Given the description of an element on the screen output the (x, y) to click on. 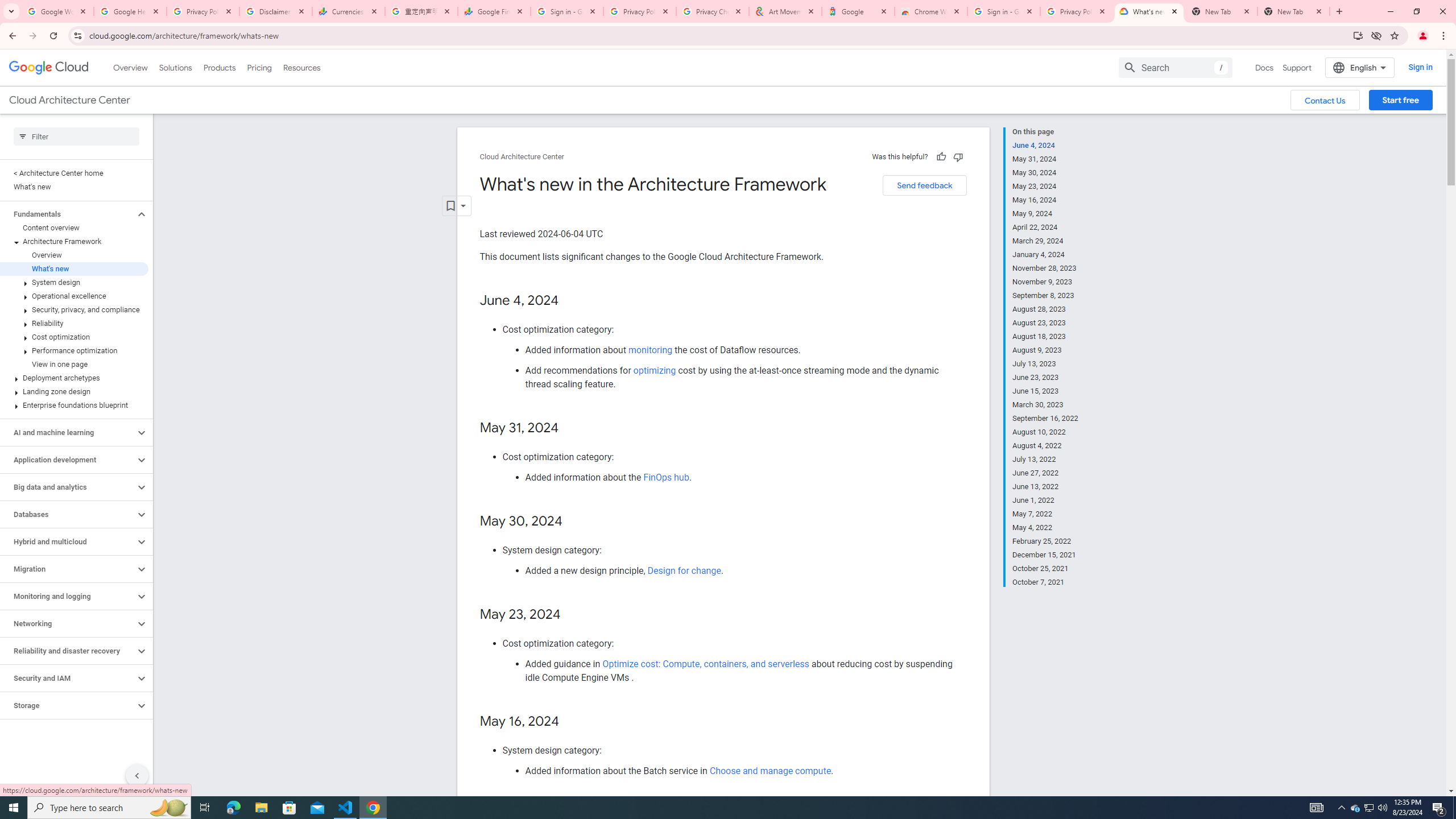
Big data and analytics (67, 486)
Privacy Checkup (712, 11)
July 13, 2023 (1044, 364)
Google Workspace Admin Community (57, 11)
December 15, 2021 (1044, 554)
English (1359, 67)
May 16, 2024 (1044, 200)
Fundamentals (67, 214)
August 28, 2023 (1044, 309)
March 29, 2024 (1044, 241)
Performance optimization (74, 350)
Copy link to this section: May 16, 2024 (570, 721)
Sign in - Google Accounts (1003, 11)
